Given the description of an element on the screen output the (x, y) to click on. 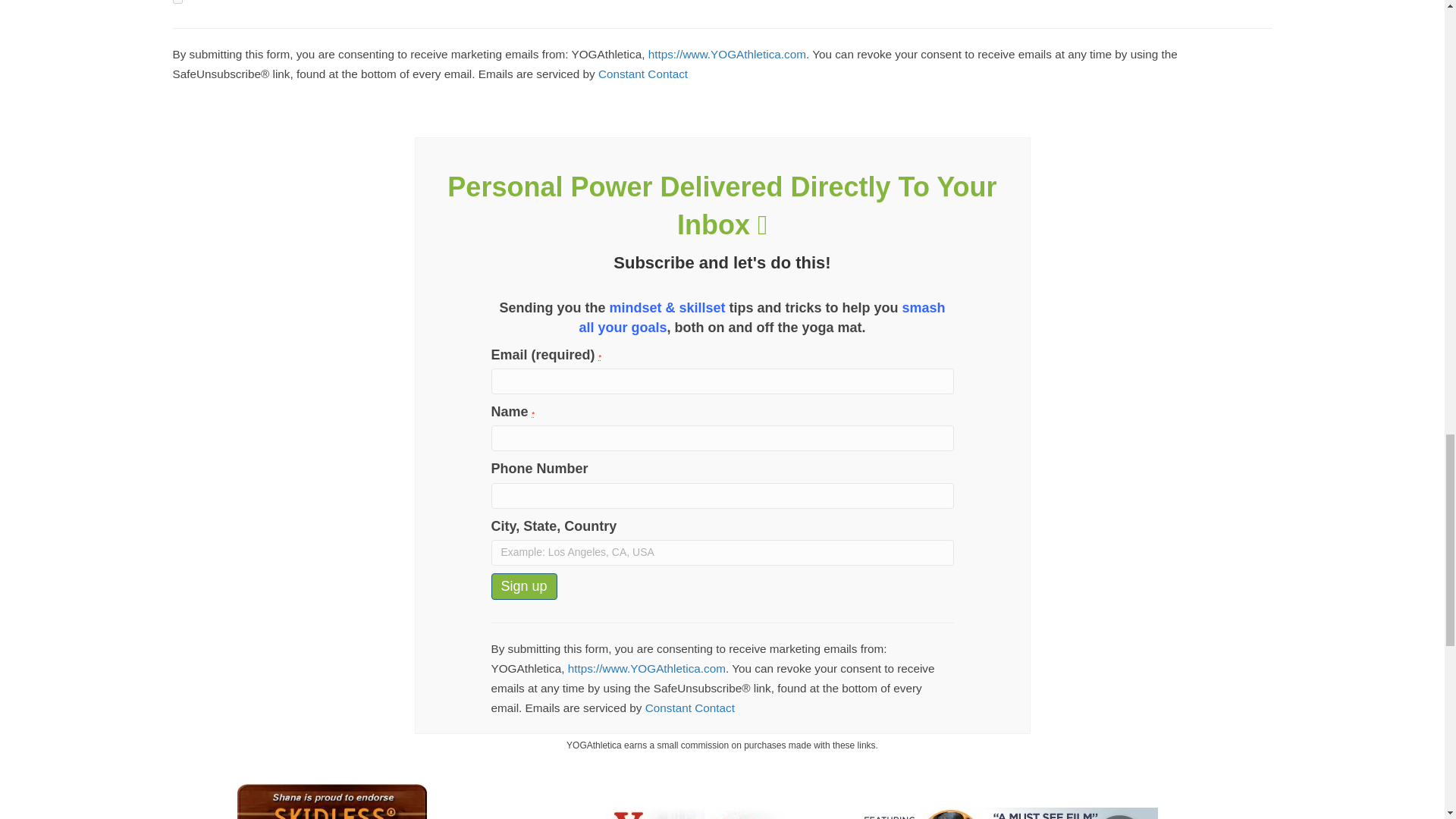
4 (178, 2)
numbers, dashes, pluses, periods, and parentheses (722, 495)
yogitoes-1advert (331, 801)
Sign up (524, 586)
